Given the description of an element on the screen output the (x, y) to click on. 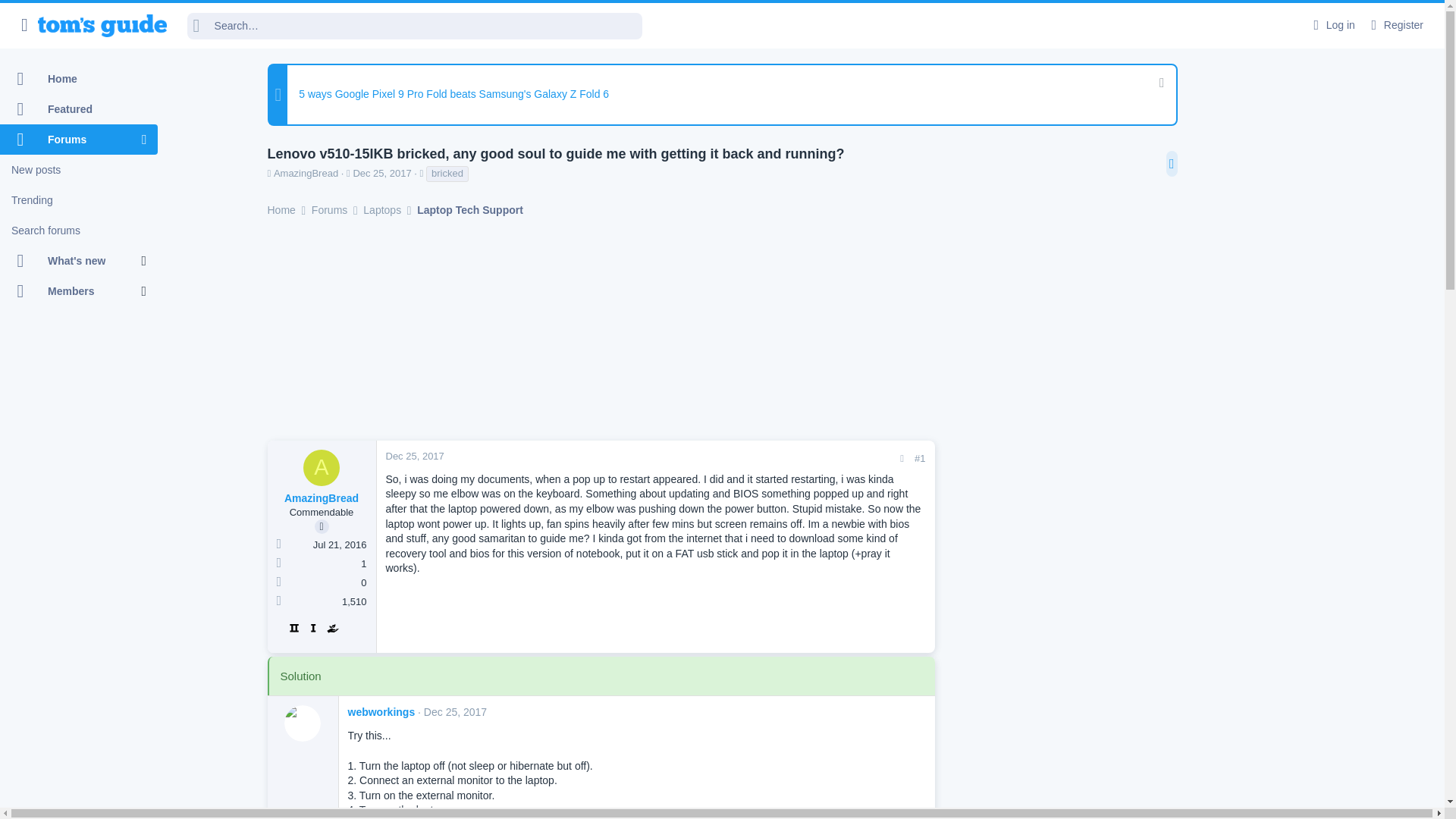
Dec 25, 2017 at 12:45 AM (414, 455)
Log in (1332, 24)
Register (1395, 24)
Dec 25, 2017 at 5:29 PM (454, 711)
Dec 25, 2017 at 12:45 AM (381, 173)
